Given the description of an element on the screen output the (x, y) to click on. 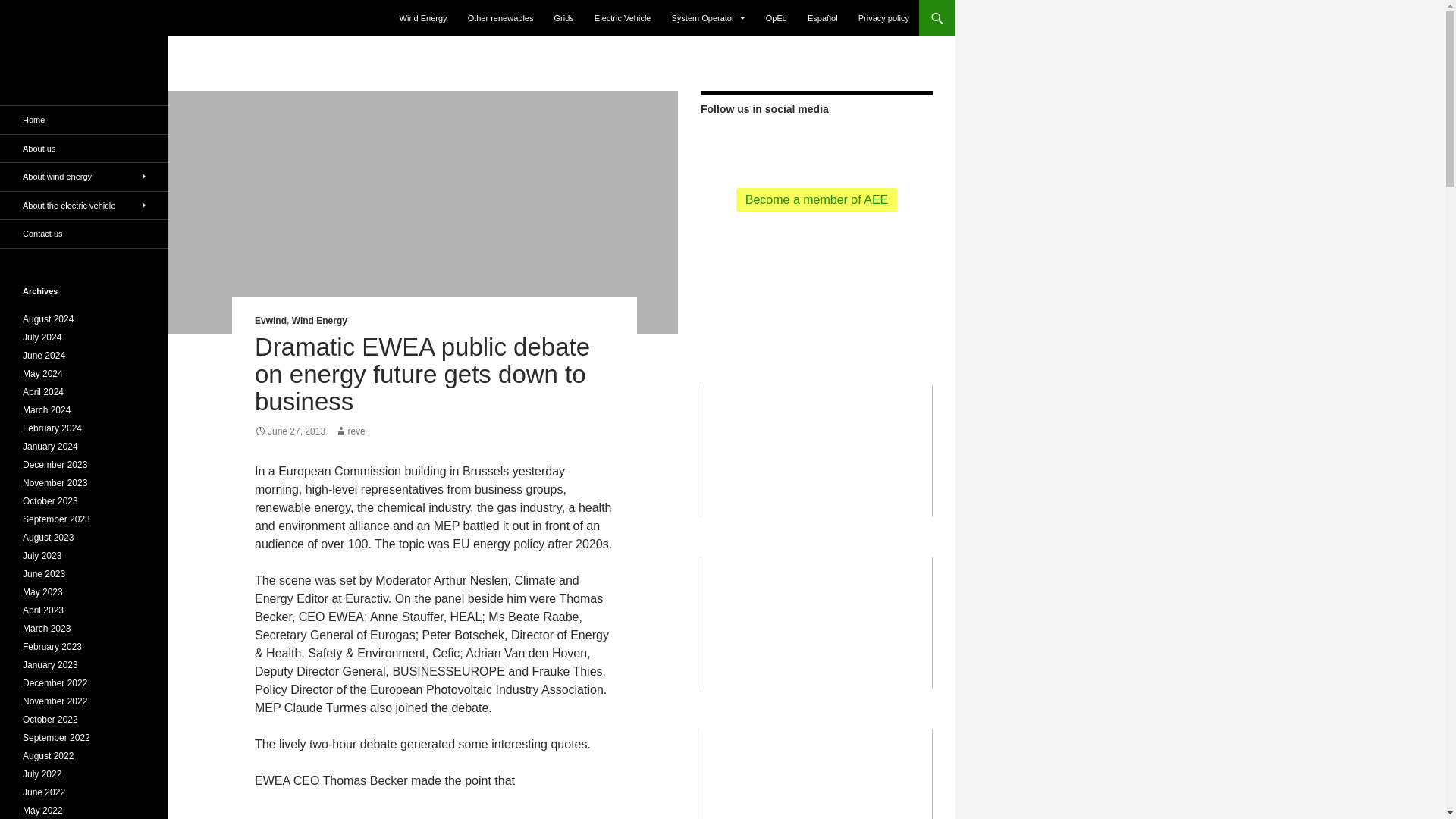
youtube (792, 143)
Become a member of AEE (817, 199)
System Operator (708, 18)
Slideshare (913, 143)
Wind Energy (319, 320)
Other renewables (500, 18)
LinkedIn (865, 143)
facebook (767, 143)
Tiktok (840, 143)
Instagram (889, 143)
